Given the description of an element on the screen output the (x, y) to click on. 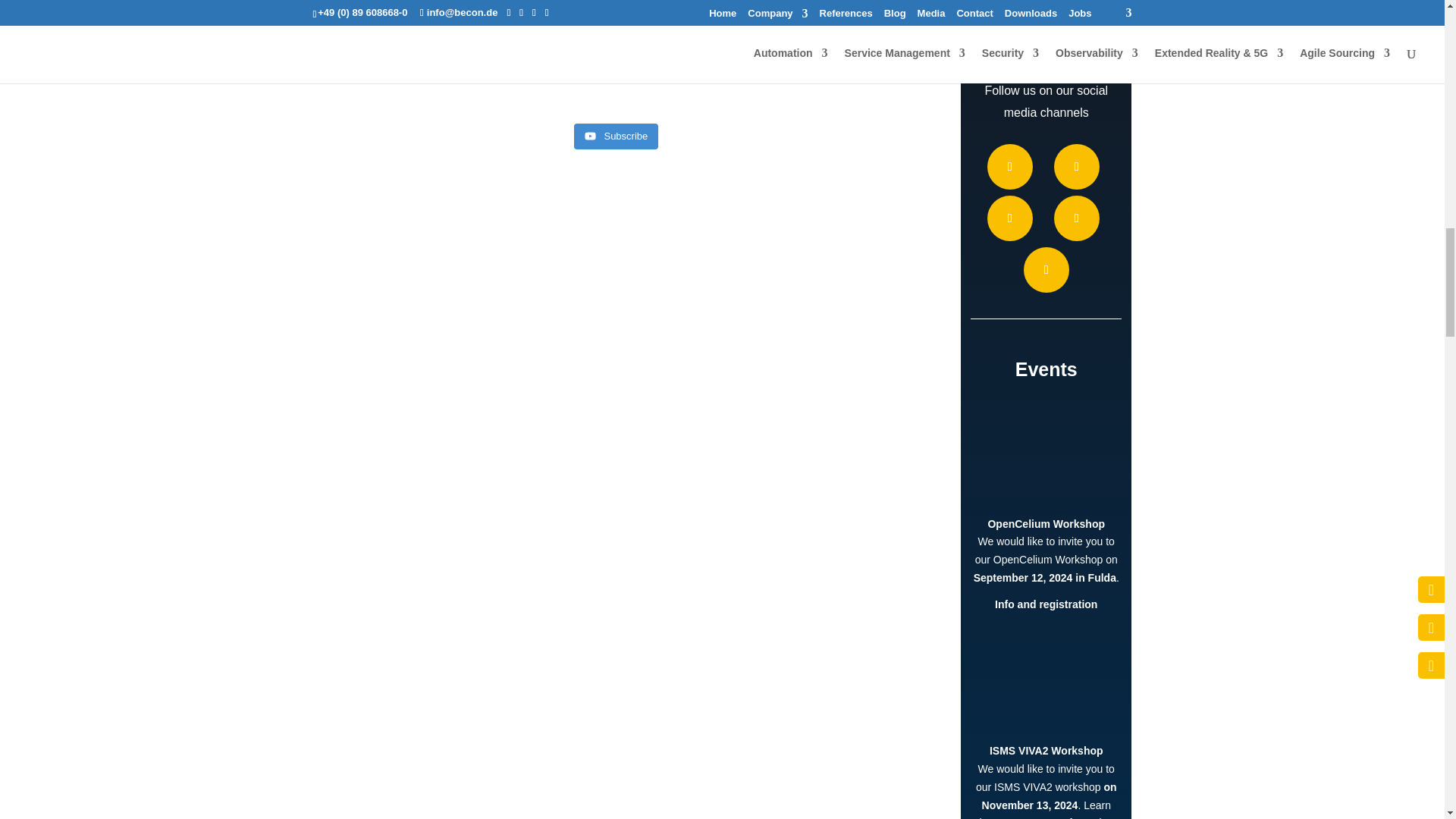
Follow on LinkedIn (1045, 269)
Follow on Facebook (1009, 166)
Follow on Youtube (1076, 217)
Follow on X (1076, 166)
Follow on Instagram (1009, 217)
